Given the description of an element on the screen output the (x, y) to click on. 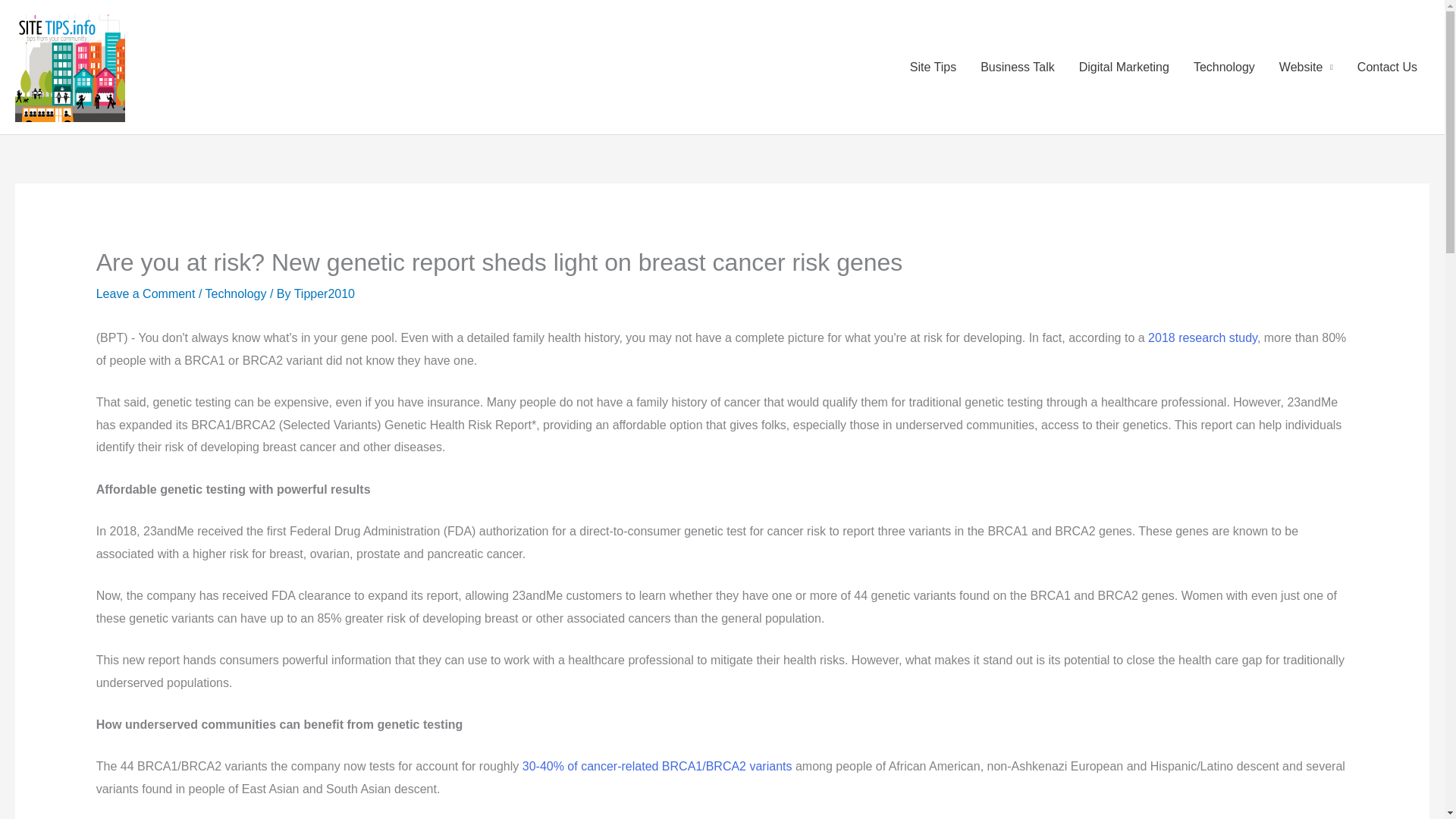
View all posts by Tipper2010 (324, 293)
Leave a Comment (145, 293)
2018 research study (1202, 337)
Tipper2010 (324, 293)
Technology (235, 293)
